Given the description of an element on the screen output the (x, y) to click on. 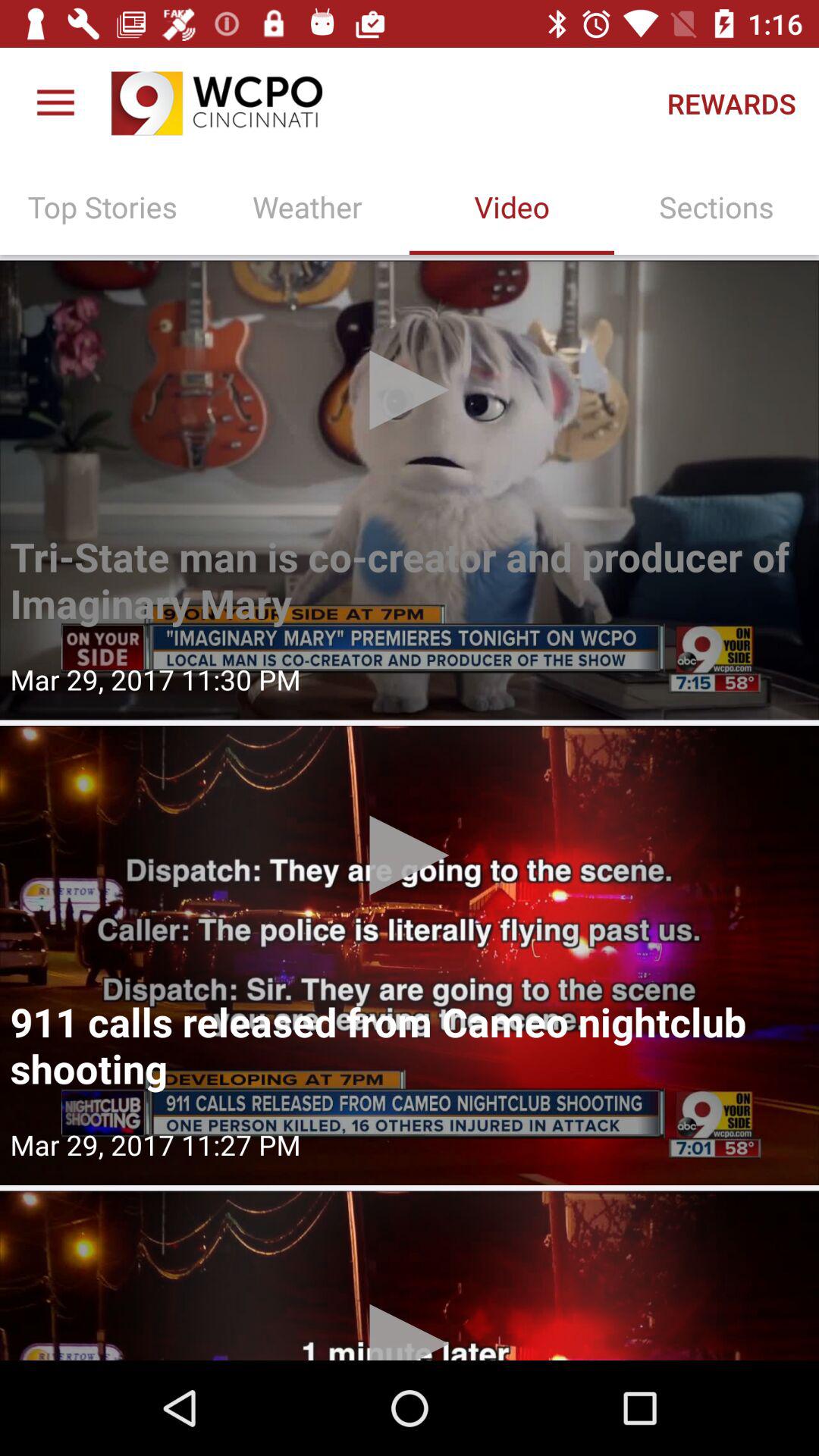
watch a video (409, 490)
